Given the description of an element on the screen output the (x, y) to click on. 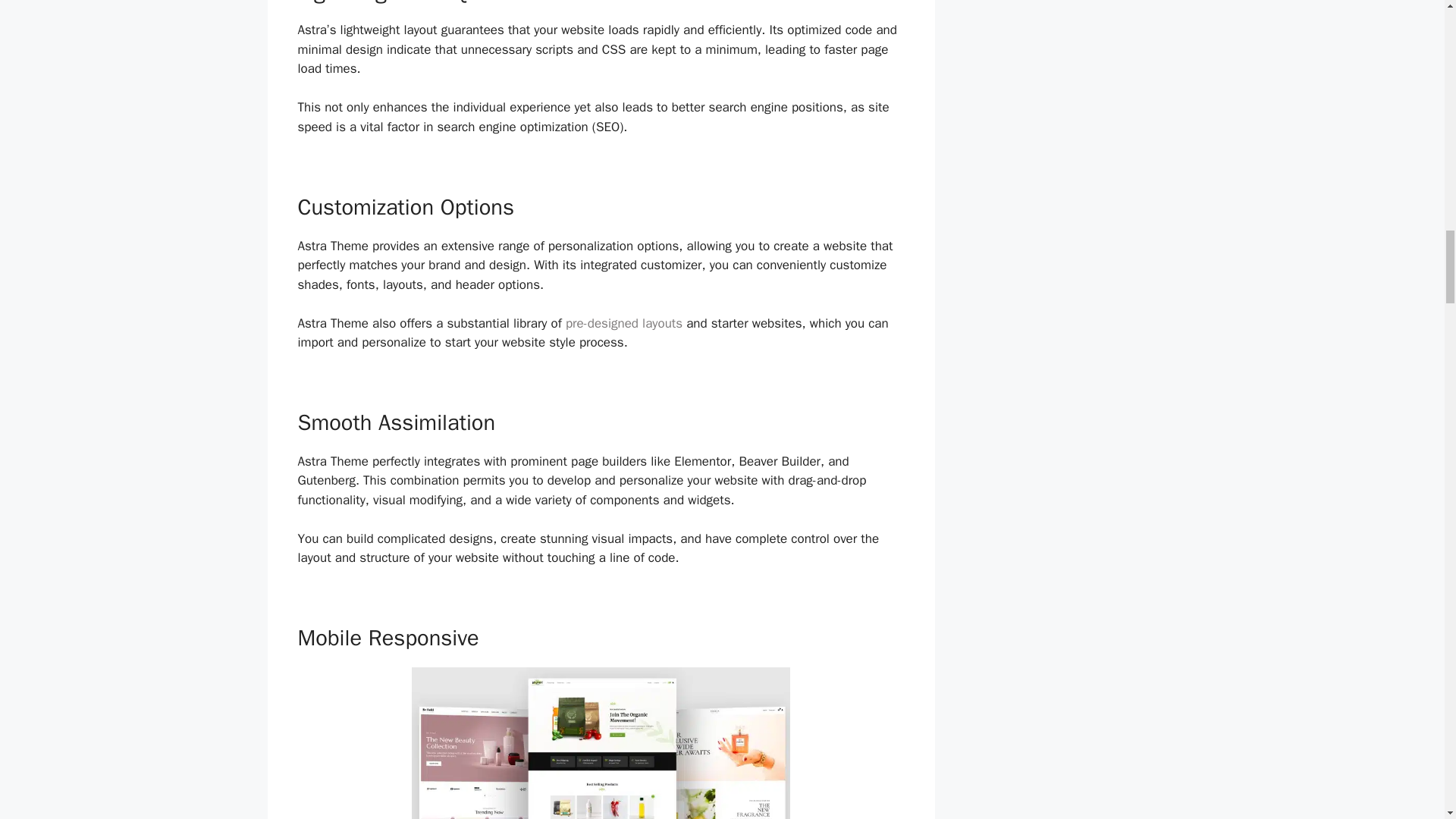
pre-designed layouts (624, 323)
